Given the description of an element on the screen output the (x, y) to click on. 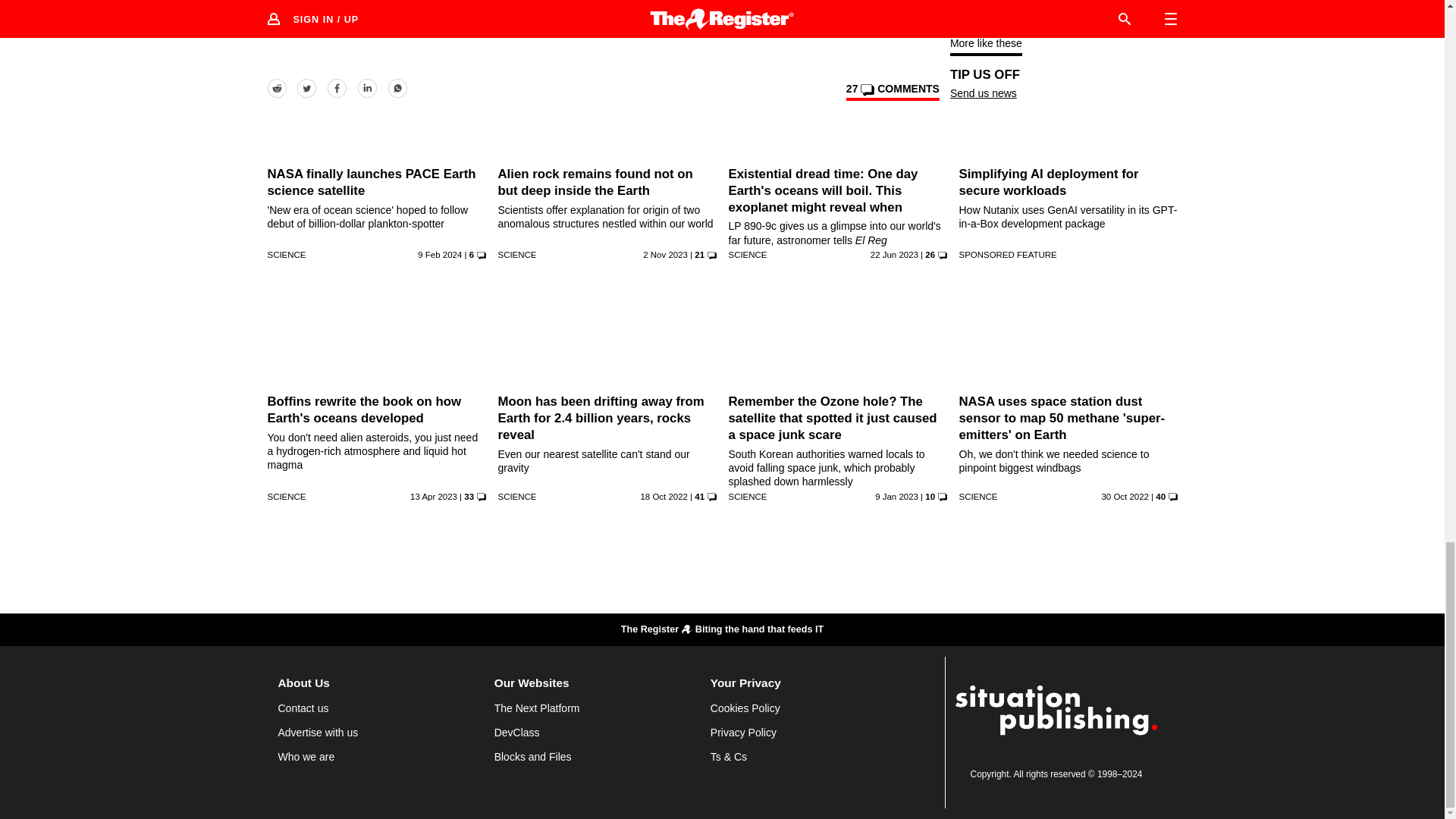
30 Oct 2022 23:52 (1124, 496)
22 Jun 2023 7:35 (894, 254)
9 Feb 2024 7:27 (439, 254)
18 Oct 2022 13:45 (663, 496)
2 Nov 2023 7:4 (665, 254)
13 Apr 2023 13:22 (433, 496)
View comments on this article (892, 91)
9 Jan 2023 23:30 (896, 496)
